Given the description of an element on the screen output the (x, y) to click on. 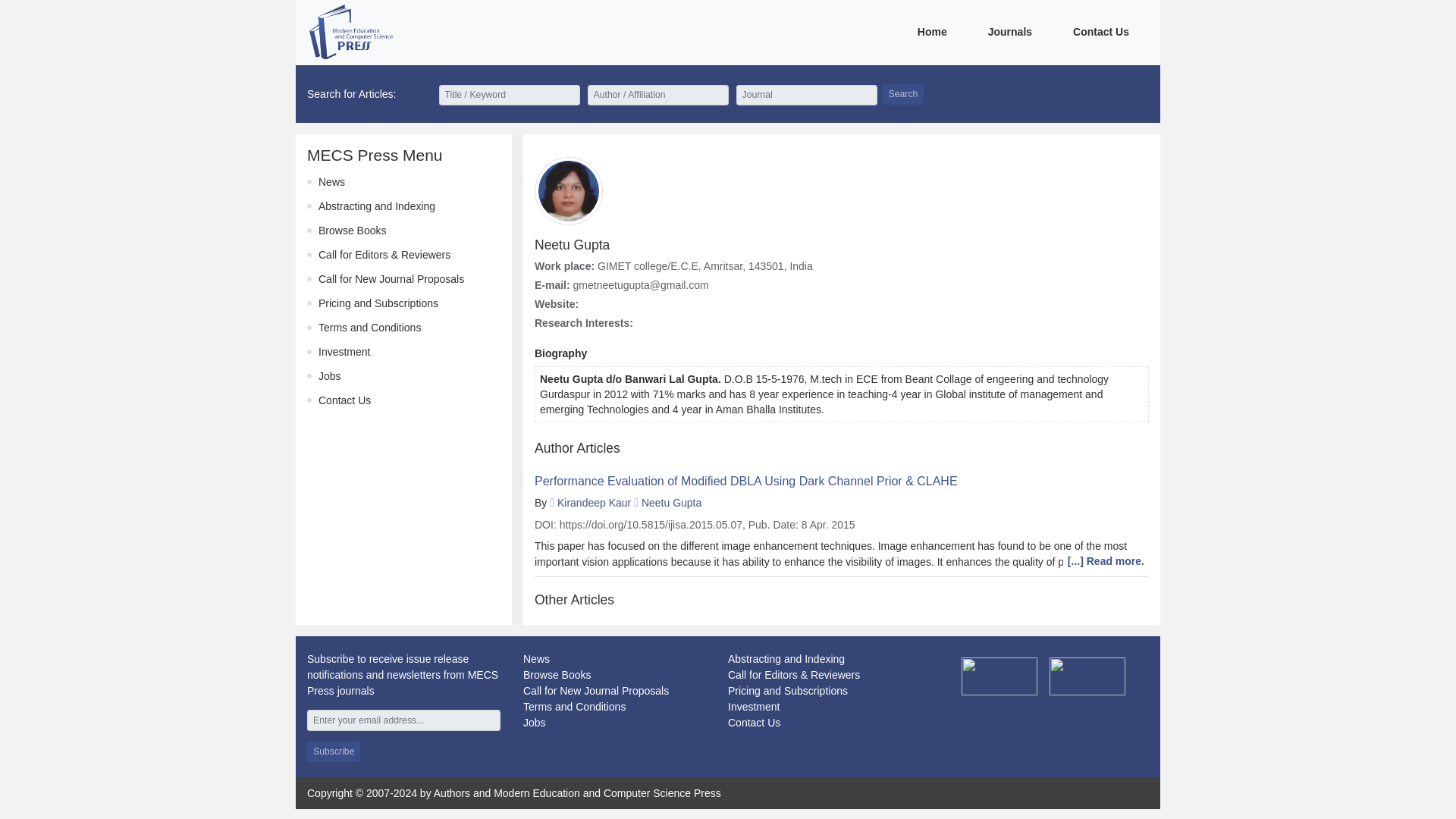
Contact Us (344, 399)
Jobs (329, 376)
Terms and Conditions (369, 327)
Kirandeep Kaur (593, 502)
Search (903, 93)
Terms and Conditions (574, 706)
News (331, 182)
Jobs (534, 722)
Abstracting and Indexing (376, 205)
Pricing and Subscriptions (378, 303)
Abstracting and Indexing (786, 658)
Call for New Journal Proposals (595, 690)
Contact Us (754, 722)
Pricing and Subscriptions (787, 690)
Subscribe (333, 752)
